Given the description of an element on the screen output the (x, y) to click on. 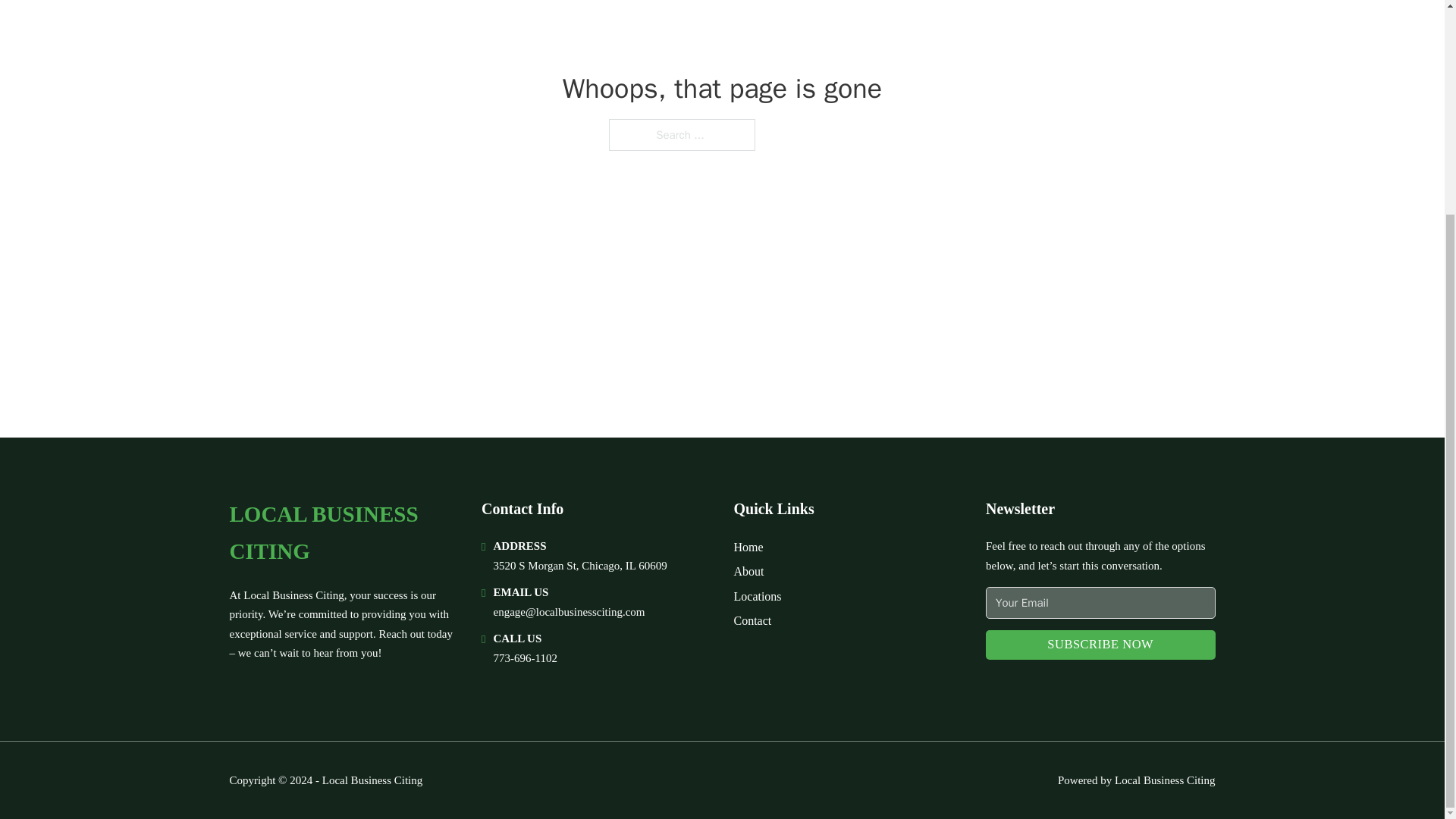
LOCAL BUSINESS CITING (343, 533)
Home (747, 547)
Locations (757, 596)
SUBSCRIBE NOW (1100, 644)
773-696-1102 (524, 657)
Contact (752, 620)
About (748, 571)
